Given the description of an element on the screen output the (x, y) to click on. 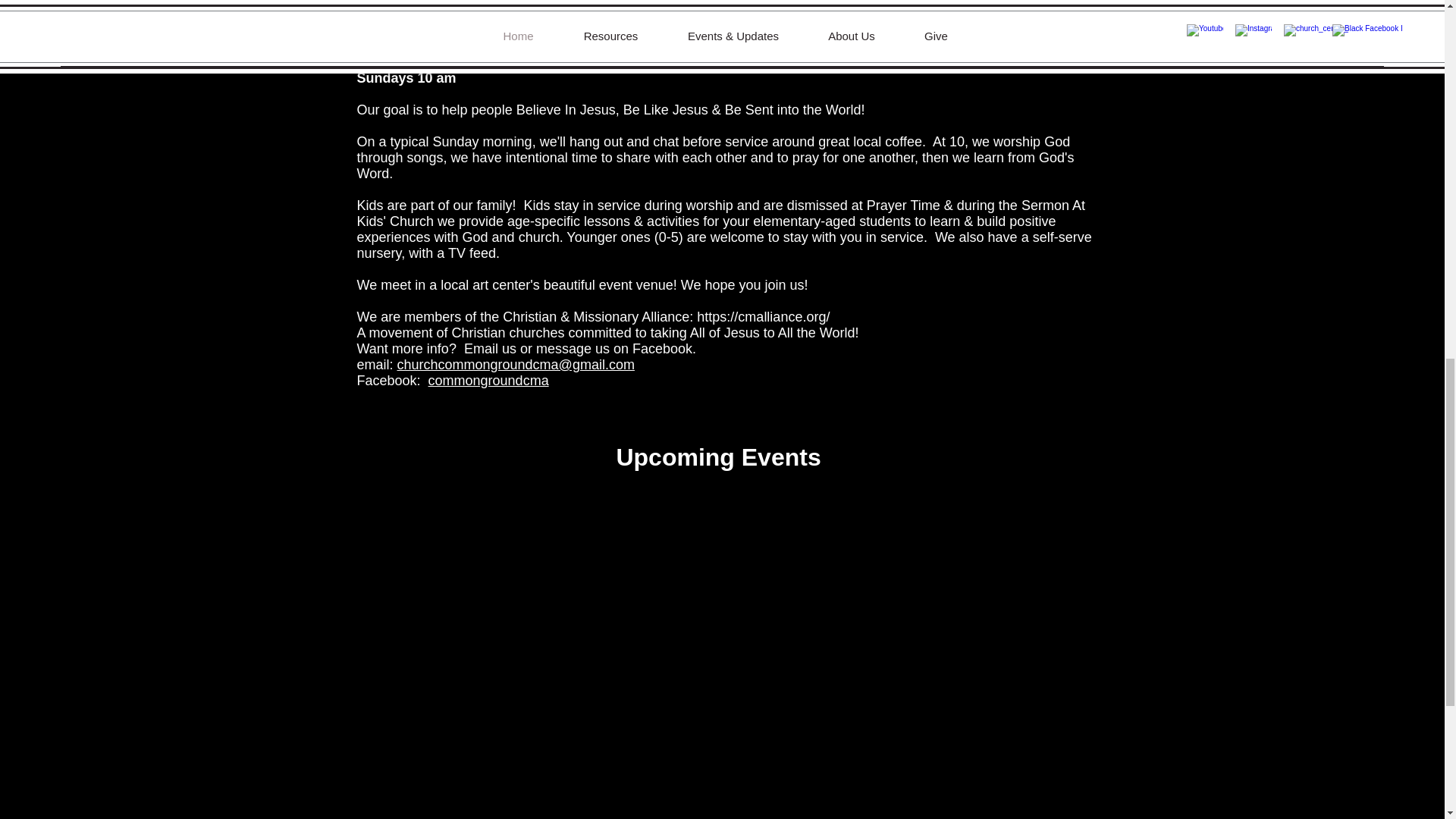
commongroundcma (488, 380)
